Given the description of an element on the screen output the (x, y) to click on. 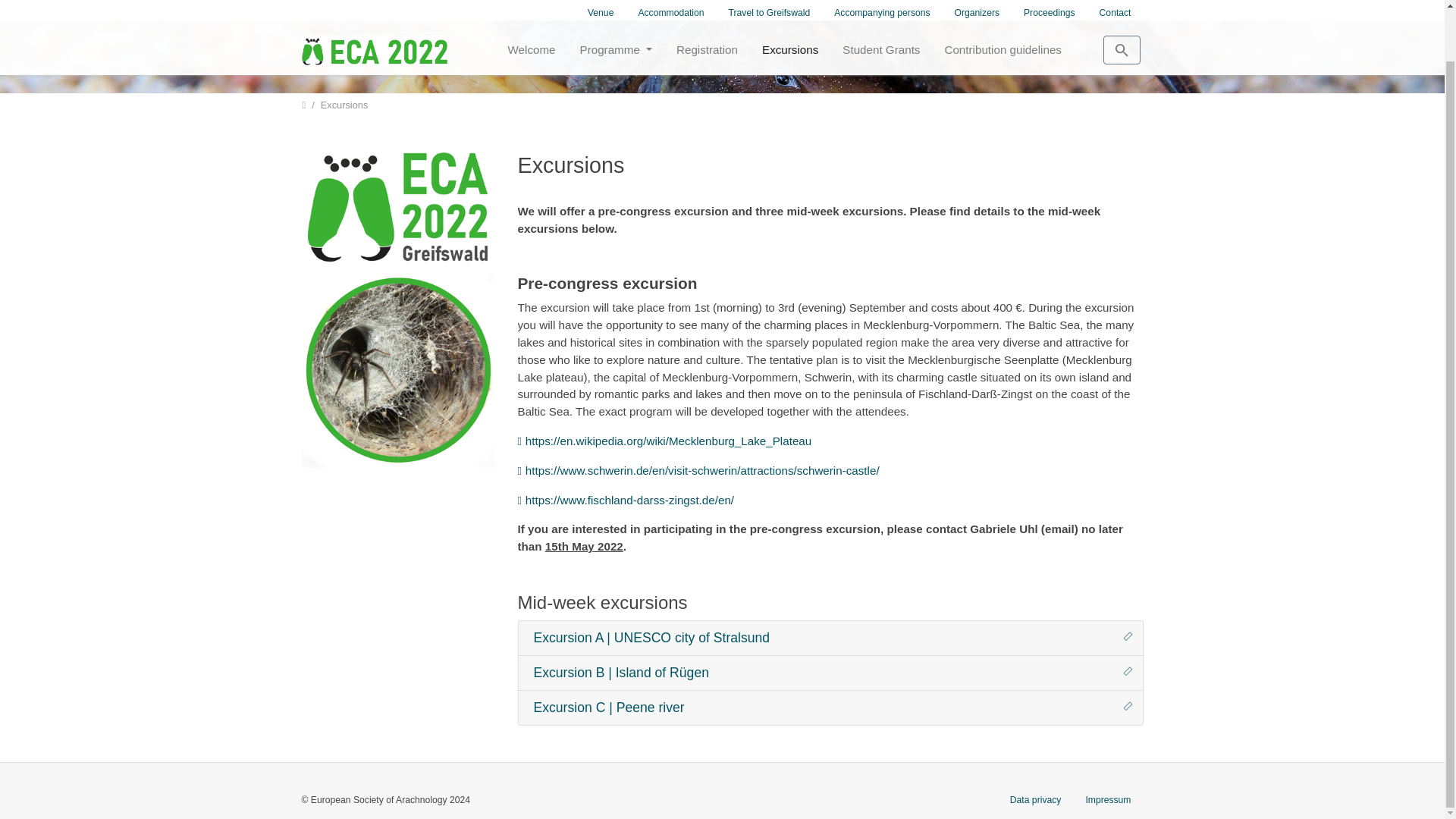
Excursions (789, 5)
Student Grants (880, 5)
Contribution guidelines (1002, 5)
Welcome (531, 5)
ECA Meeting (373, 4)
Registration (706, 5)
Programme (615, 5)
